Given the description of an element on the screen output the (x, y) to click on. 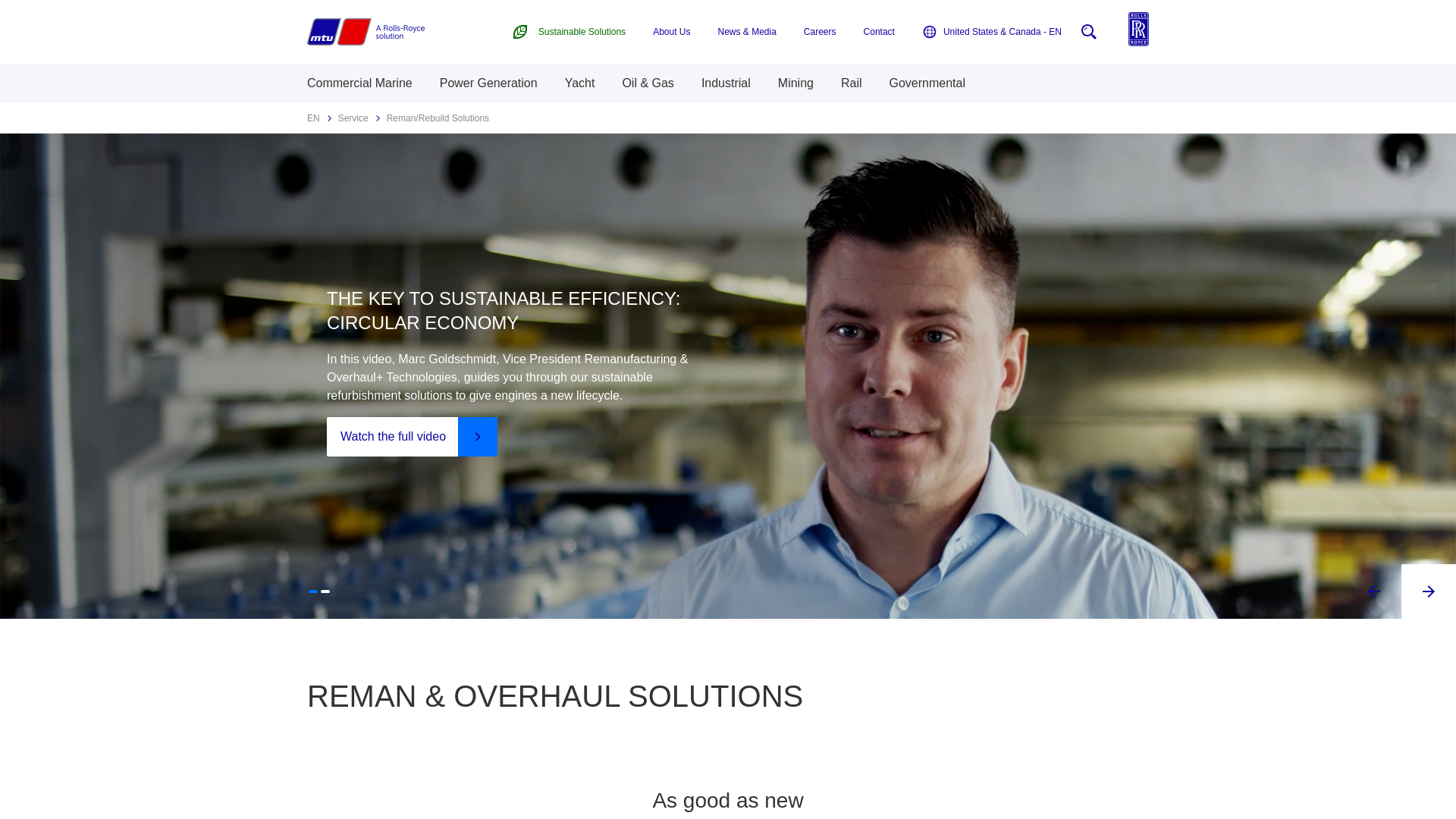
Commercial Marine (360, 83)
Home (366, 31)
